Given the description of an element on the screen output the (x, y) to click on. 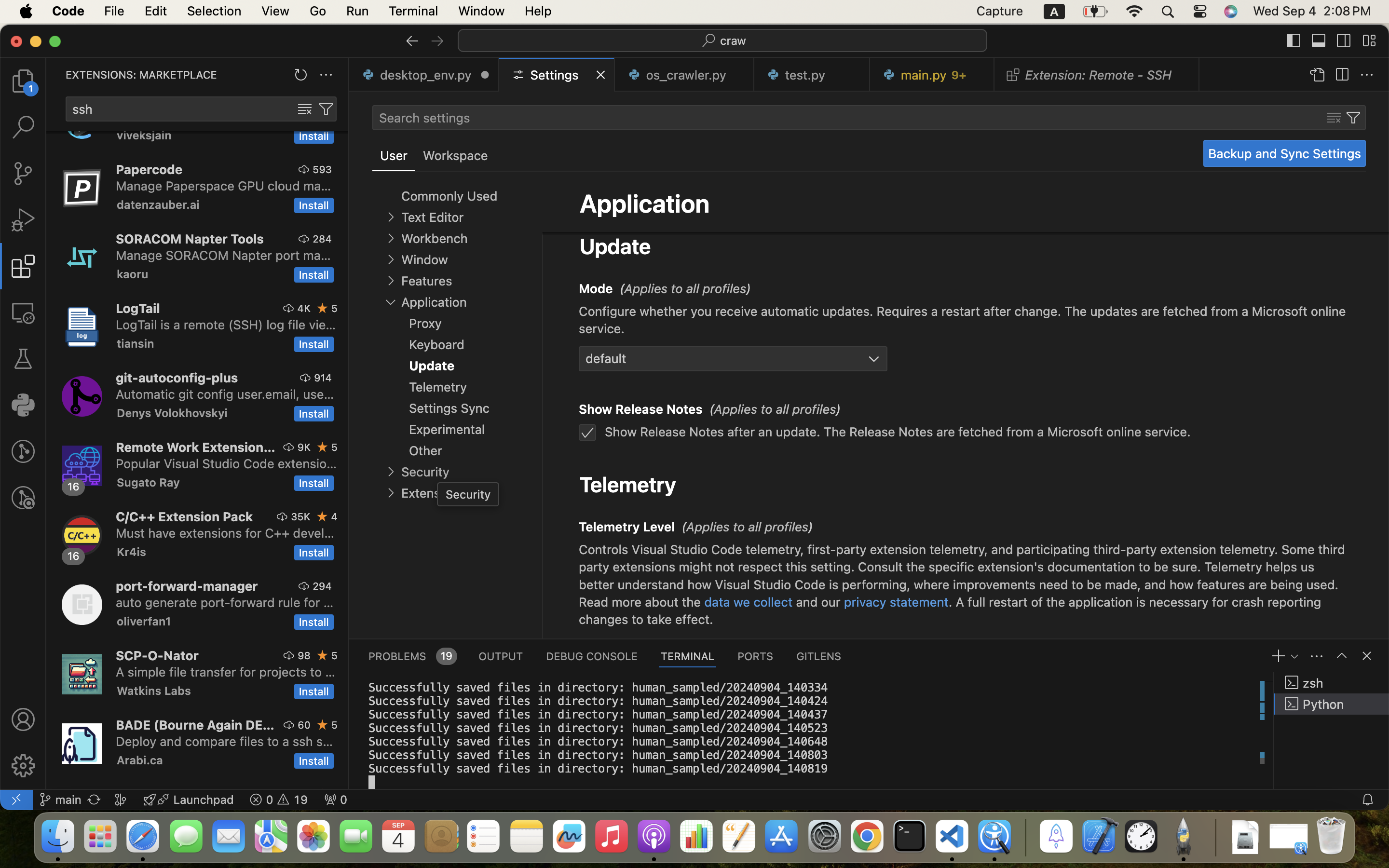
0 GITLENS Element type: AXRadioButton (819, 655)
 Element type: AXStaticText (304, 168)
Update Element type: AXStaticText (615, 245)
LogTail is a remote (SSH) log file viewer and monitoring extension. Element type: AXStaticText (225, 324)
 Element type: AXGroup (23, 312)
